Given the description of an element on the screen output the (x, y) to click on. 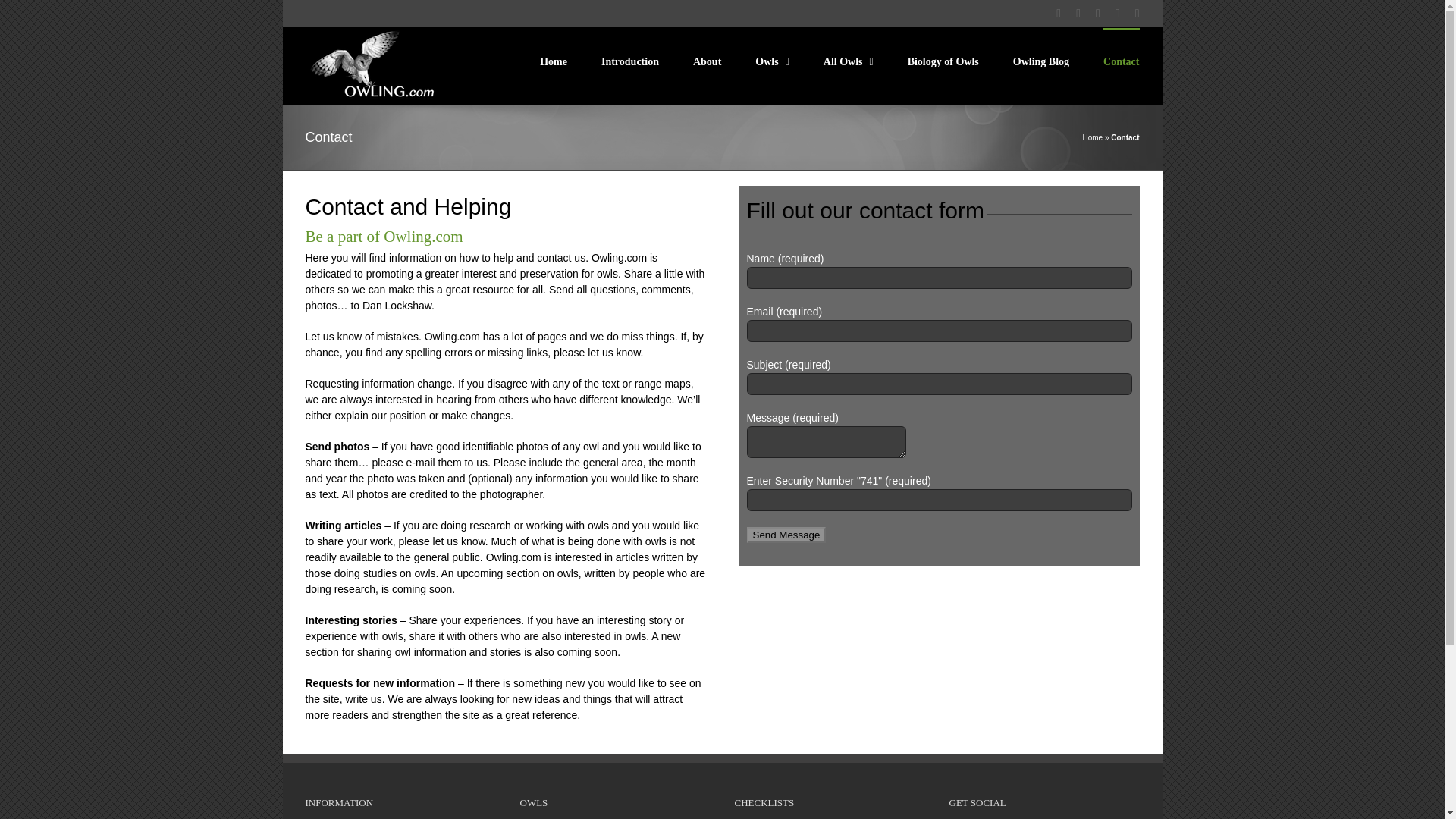
Send Message (785, 534)
